Given the description of an element on the screen output the (x, y) to click on. 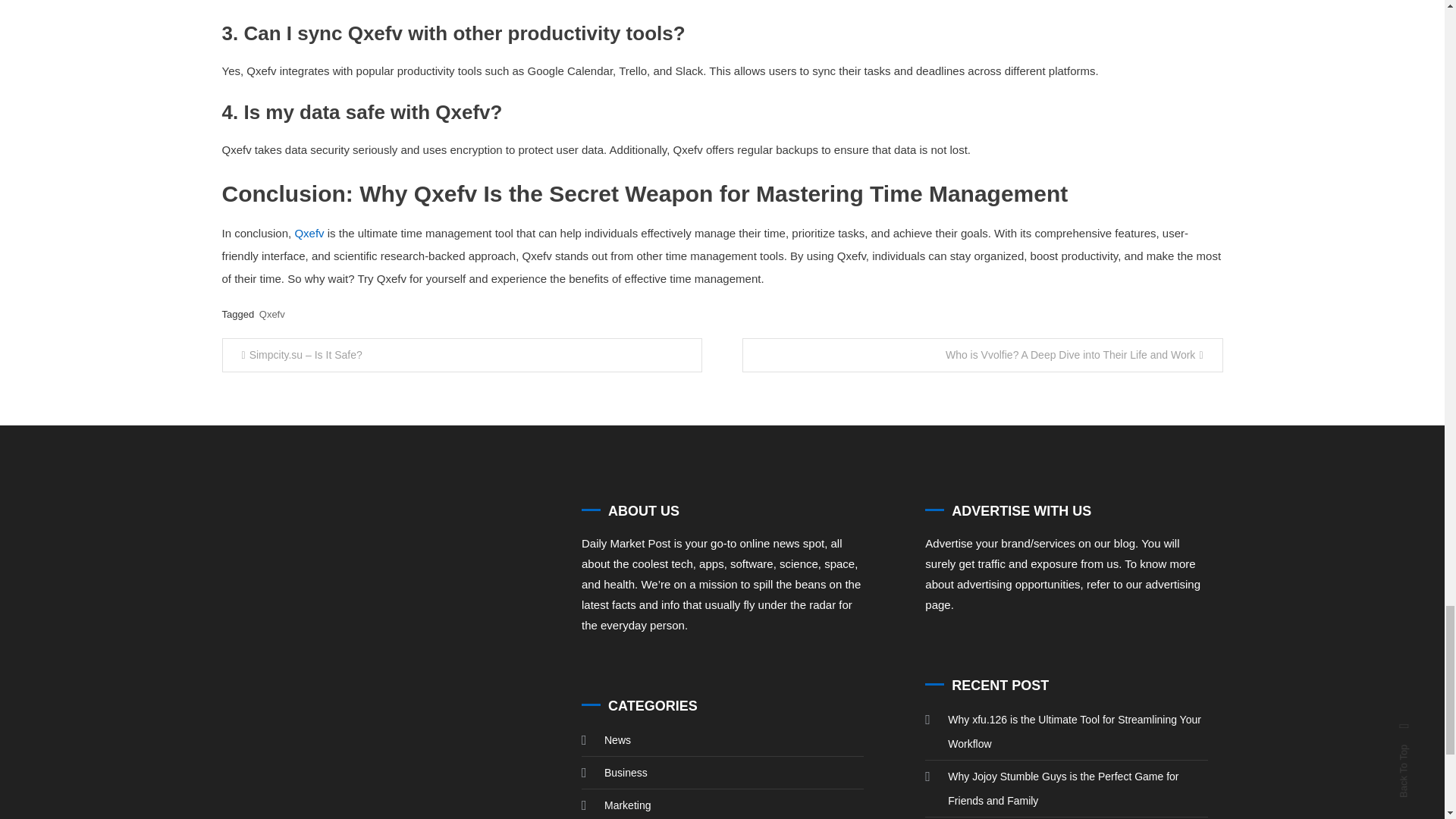
Qxefv (308, 232)
Qxefv (272, 314)
